Given the description of an element on the screen output the (x, y) to click on. 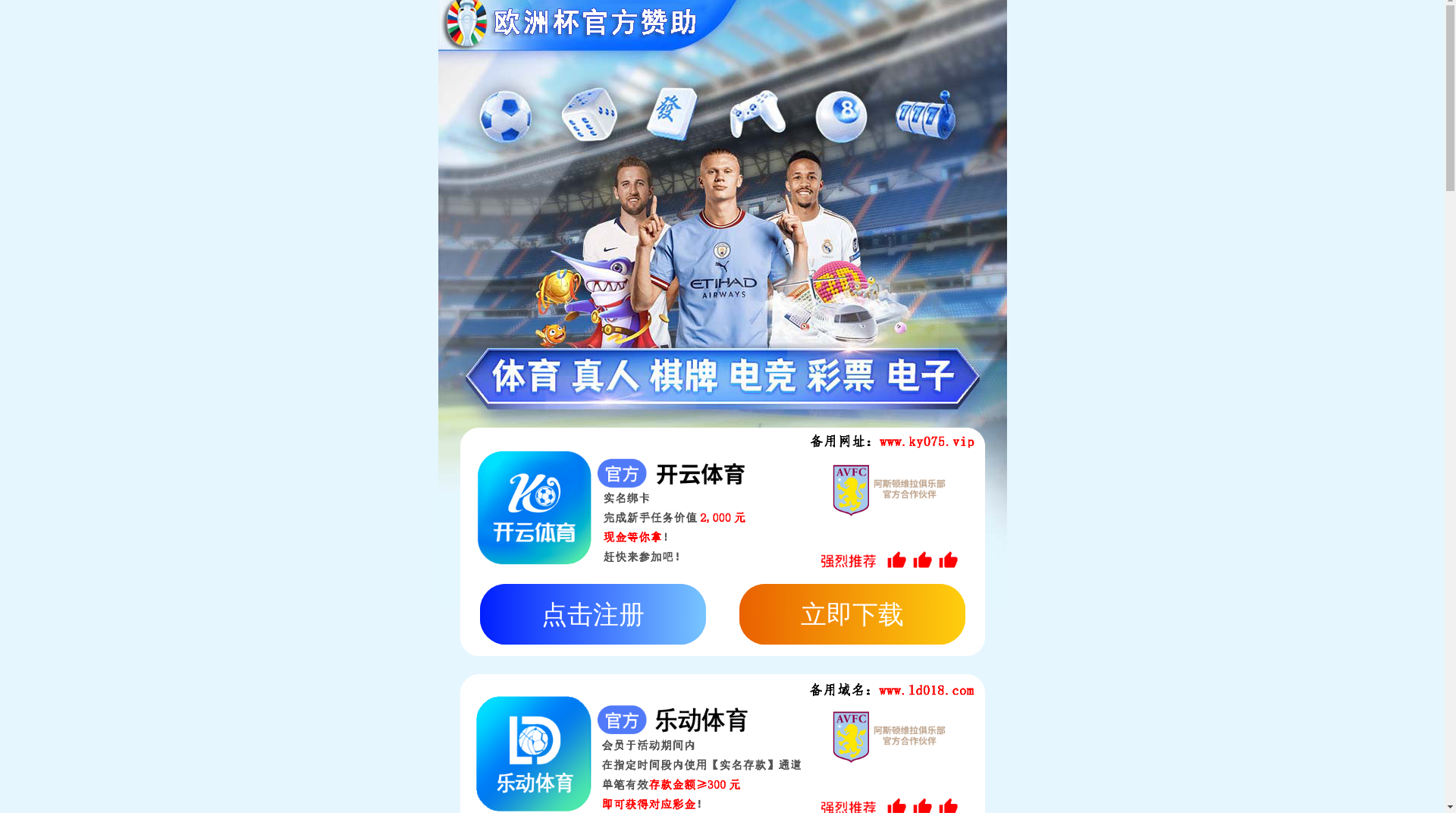
About Us (956, 24)
Cases (1079, 24)
Company Profile (208, 359)
News (1128, 24)
Development History (461, 359)
Contact Us (1190, 24)
Home (897, 24)
Marketing Network (329, 359)
Products (1022, 24)
